Given the description of an element on the screen output the (x, y) to click on. 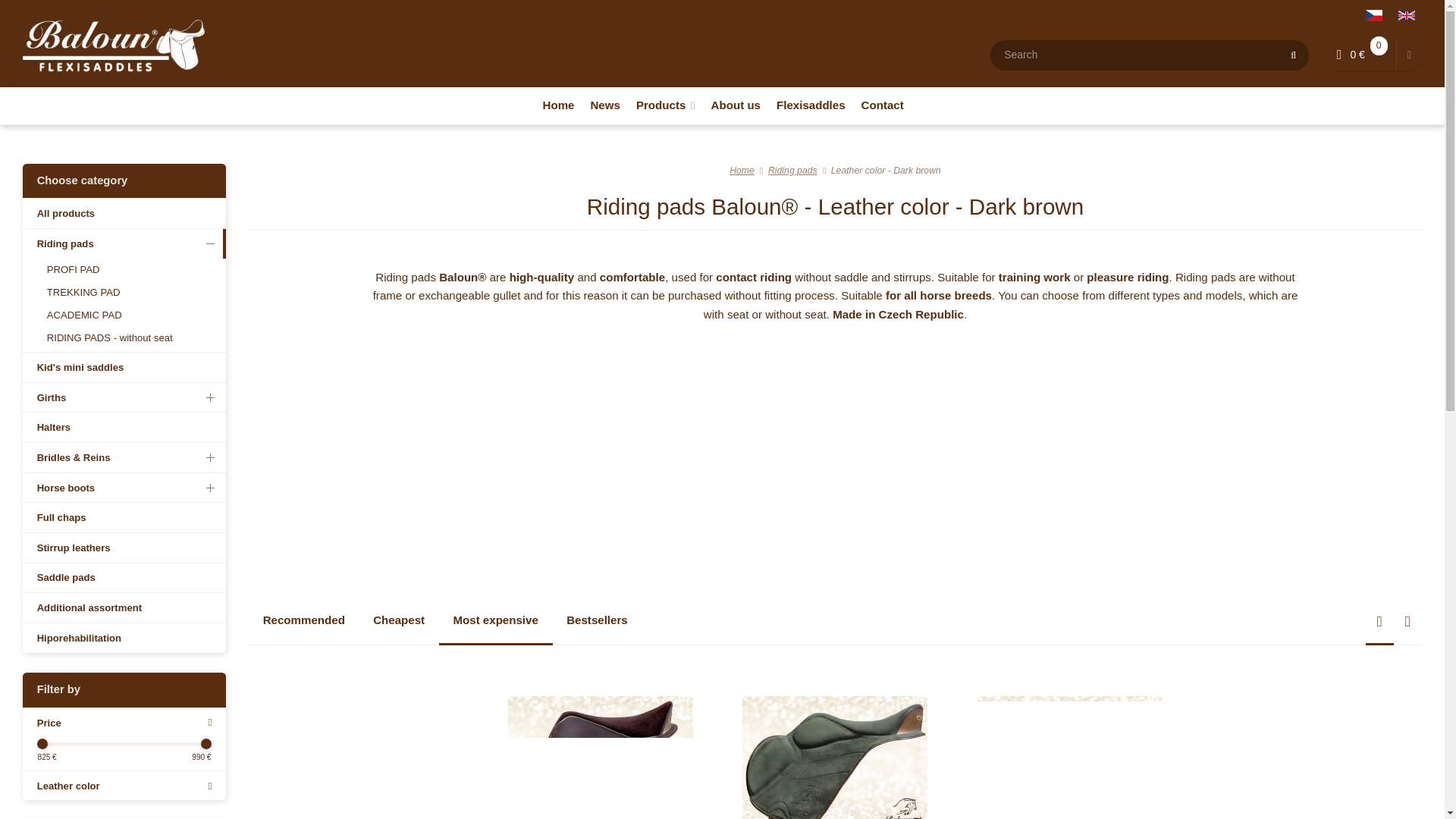
0 item (1378, 45)
Home (557, 105)
Go to Cart (1359, 55)
English (1406, 15)
Products (664, 105)
Czech (1373, 15)
News (603, 105)
Home (114, 43)
English (1405, 15)
